Given the description of an element on the screen output the (x, y) to click on. 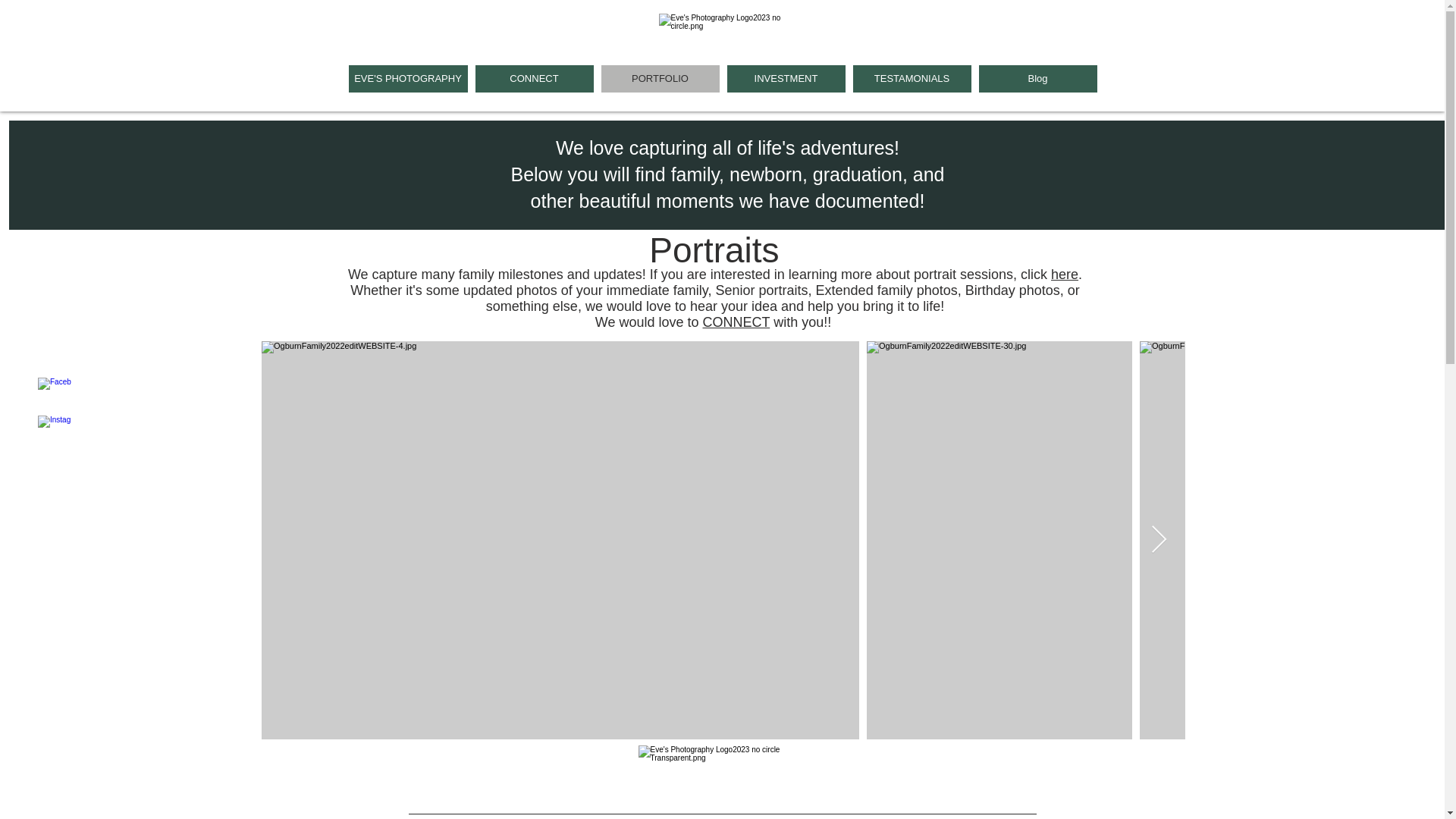
INVESTMENT (785, 78)
EVE'S PHOTOGRAPHY (408, 78)
PORTFOLIO (659, 78)
here (1064, 273)
Blog (1037, 78)
CONNECT (533, 78)
CONNECT (735, 322)
TESTAMONIALS (911, 78)
